Given the description of an element on the screen output the (x, y) to click on. 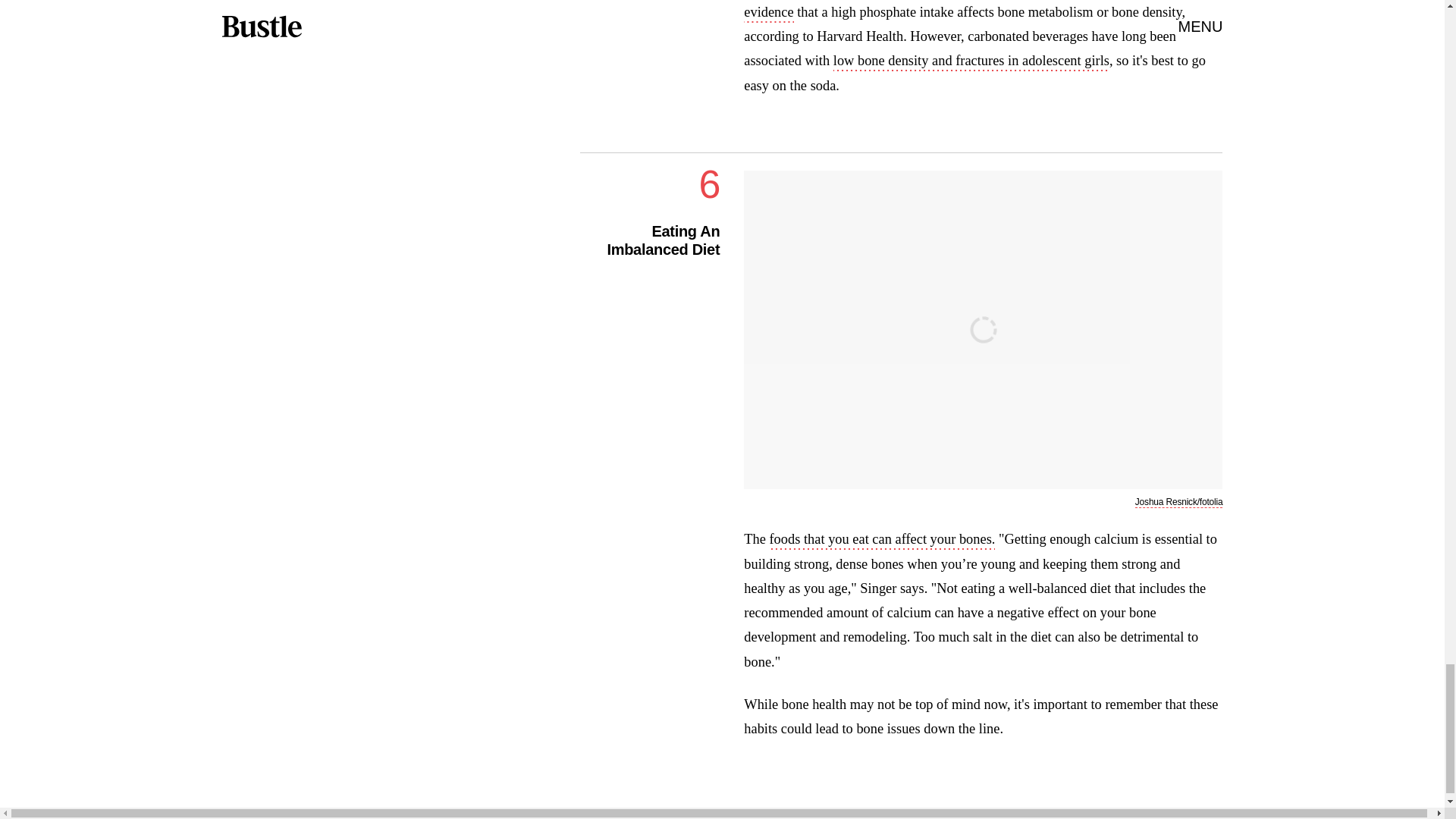
there's no good evidence (968, 11)
low bone density and fractures in adolescent girls (970, 62)
foods that you eat can affect your bones. (881, 540)
